Given the description of an element on the screen output the (x, y) to click on. 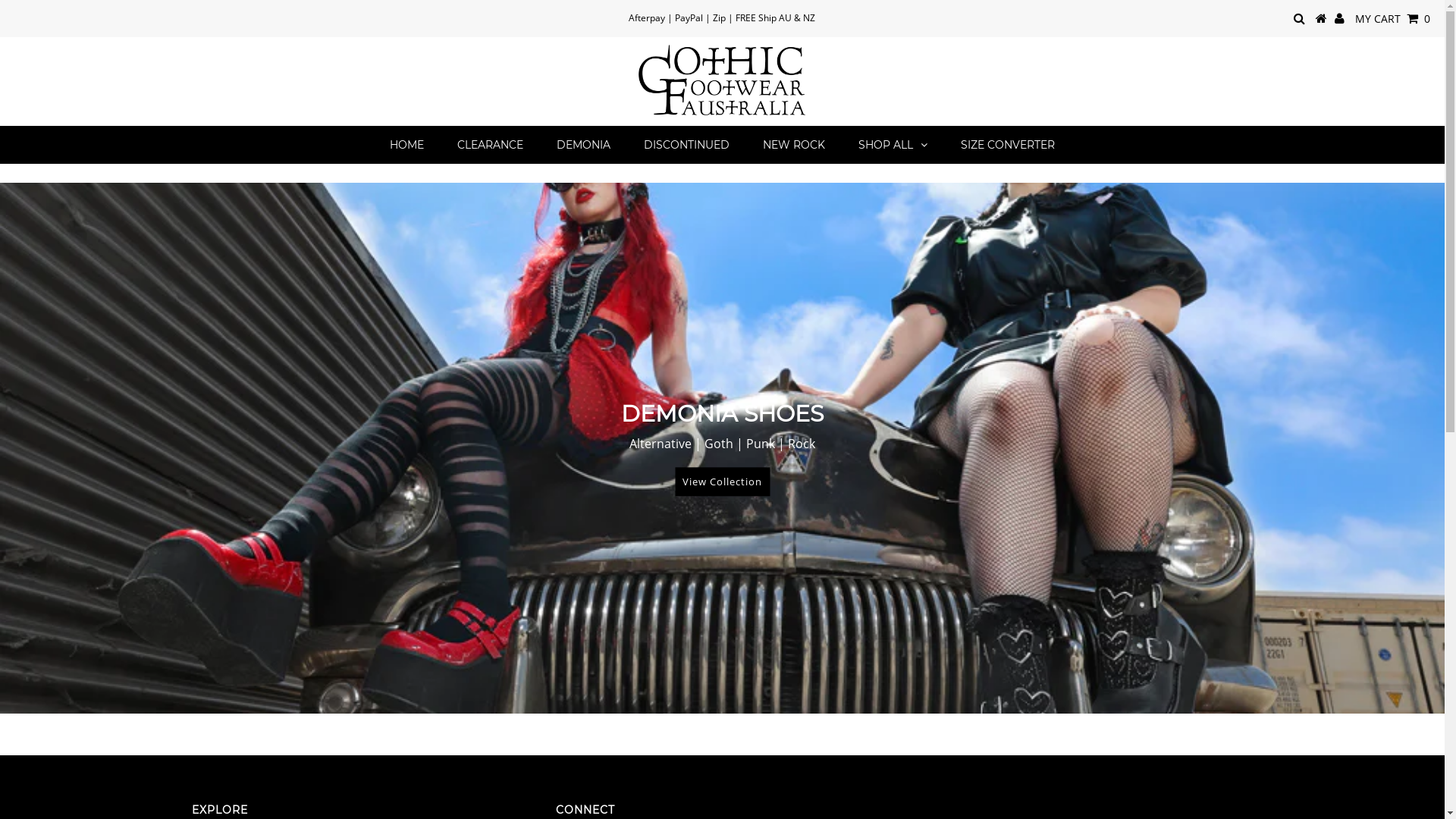
DEMONIA Element type: text (583, 144)
SHOP ALL Element type: text (892, 144)
DISCONTINUED Element type: text (686, 144)
HOME Element type: text (406, 144)
MY CART    0 Element type: text (1392, 18)
CLEARANCE Element type: text (490, 144)
NEW ROCK Element type: text (793, 144)
View Collection Element type: text (721, 481)
SIZE CONVERTER Element type: text (1007, 144)
